Given the description of an element on the screen output the (x, y) to click on. 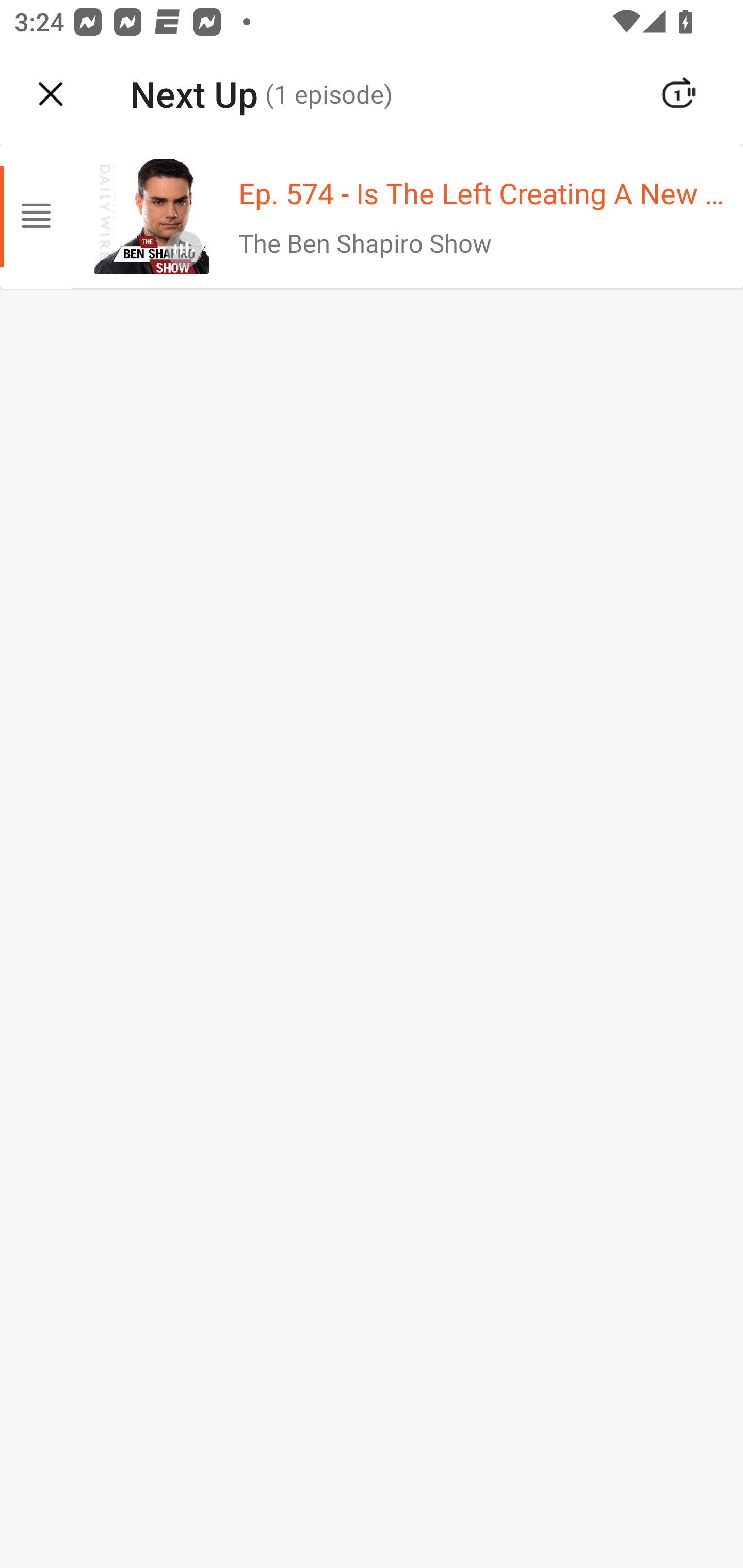
Navigate up (50, 93)
